Given the description of an element on the screen output the (x, y) to click on. 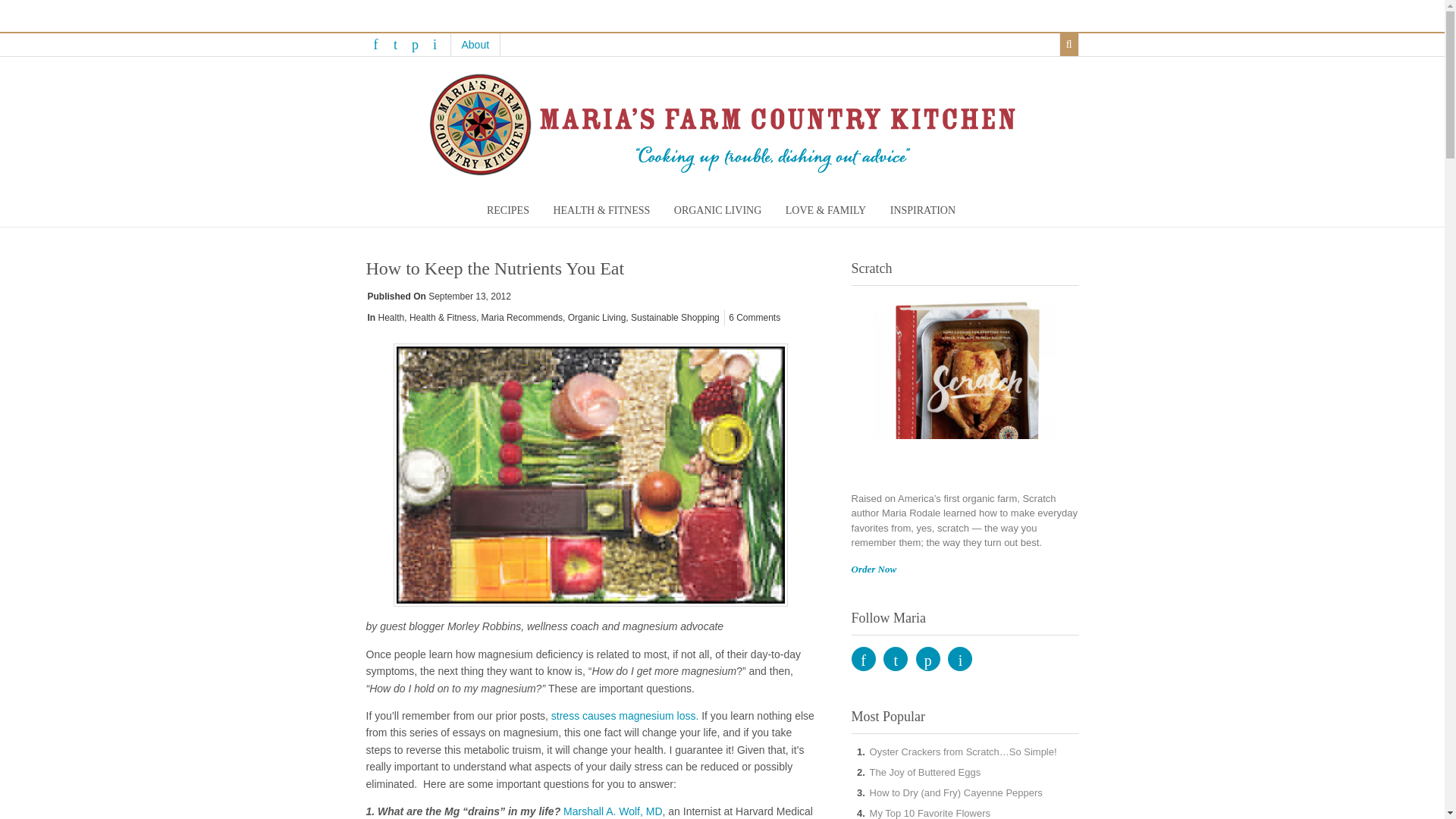
Marshall A. Wolf, MD (612, 811)
foodyum (590, 475)
2012-09-13T06:00:19-0400 (469, 296)
Facebook (375, 43)
Pinterest (414, 43)
Health (391, 317)
Instagram (434, 43)
Maria Recommends (521, 317)
About (474, 44)
stress causes magnesium loss. (623, 715)
